Given the description of an element on the screen output the (x, y) to click on. 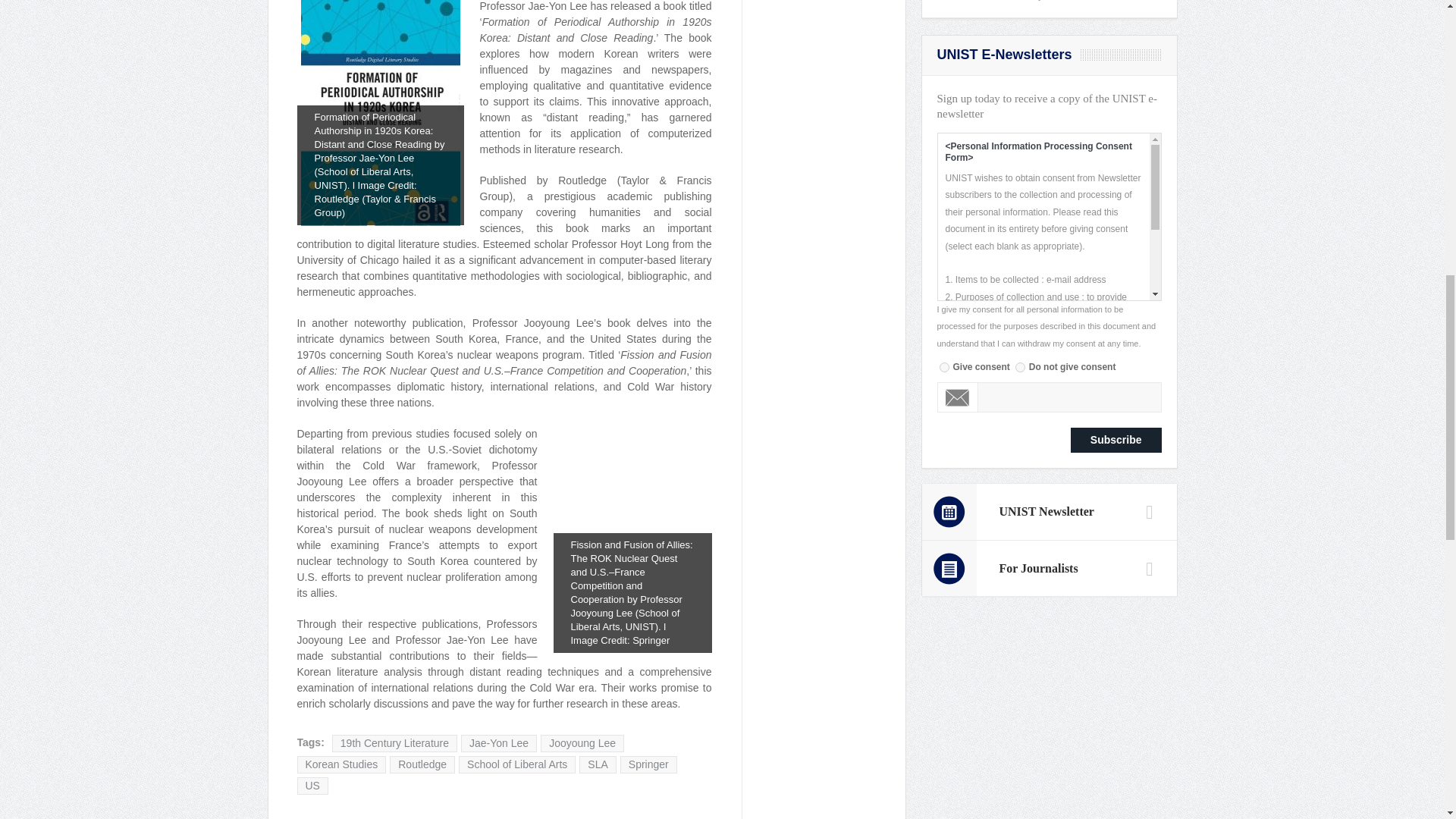
Subscribe (1115, 439)
agree (944, 367)
